Given the description of an element on the screen output the (x, y) to click on. 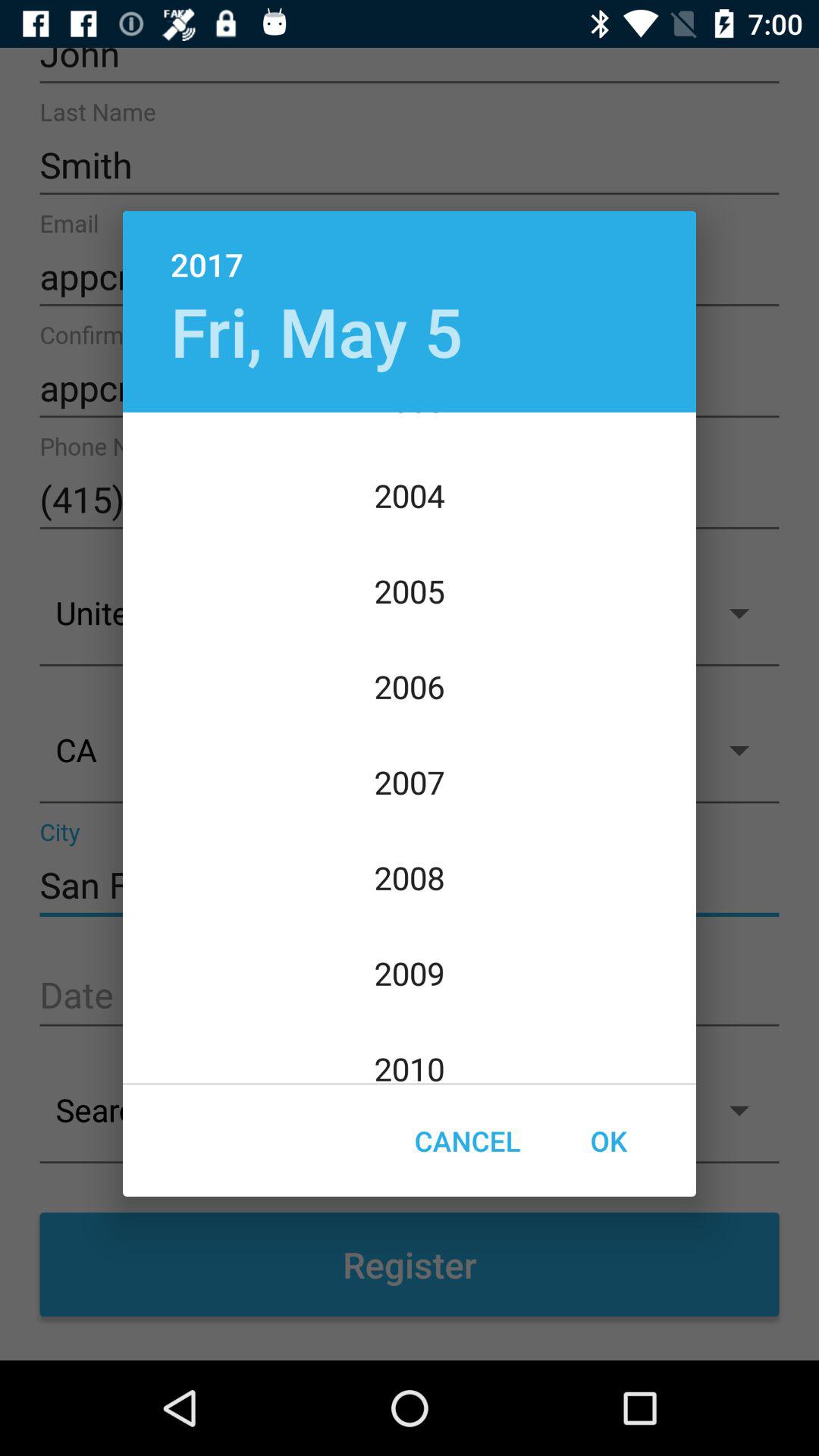
tap cancel item (467, 1140)
